Given the description of an element on the screen output the (x, y) to click on. 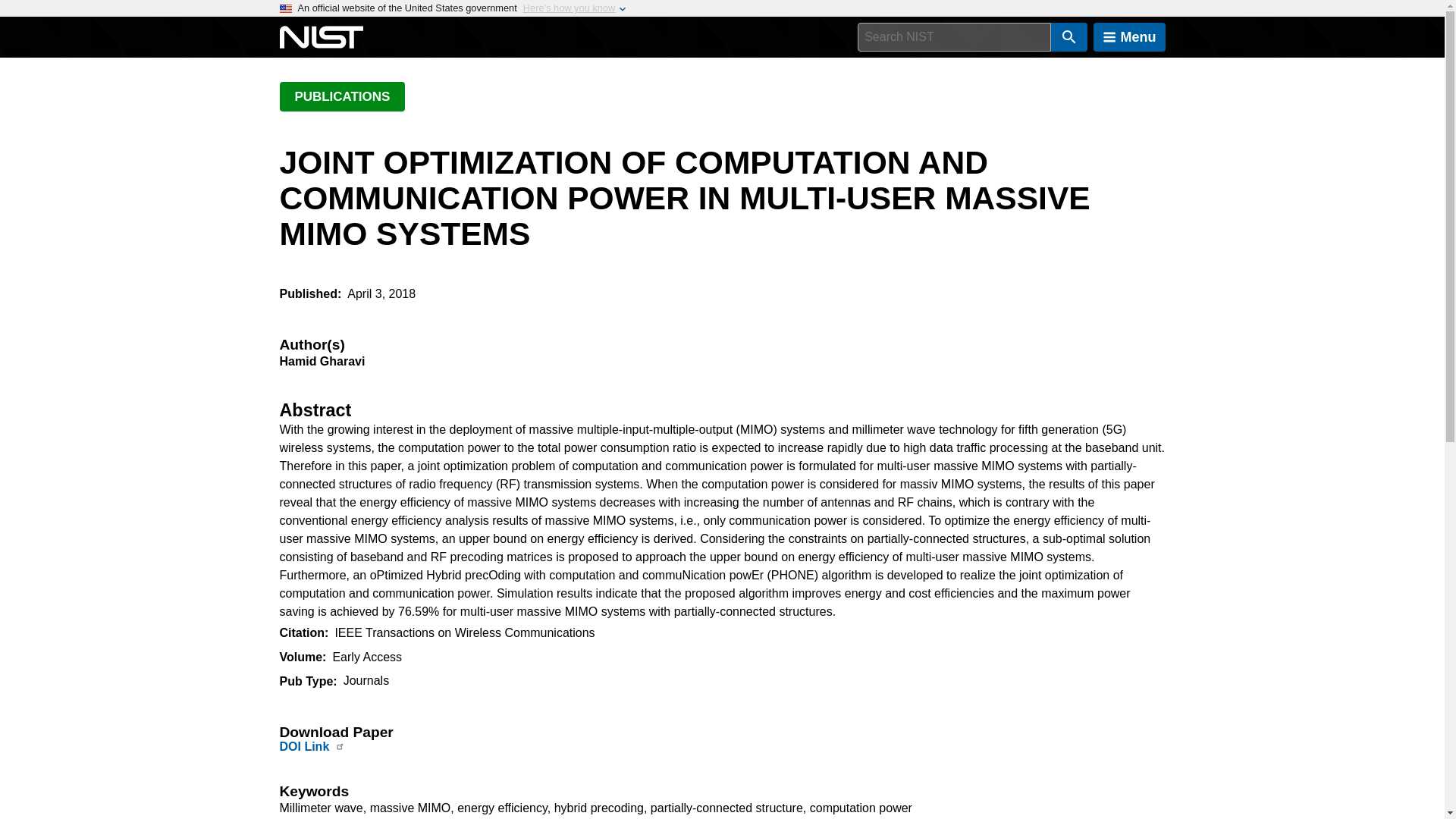
National Institute of Standards and Technology (320, 36)
Menu (1129, 36)
DOI Link (304, 746)
PUBLICATIONS (341, 96)
